Given the description of an element on the screen output the (x, y) to click on. 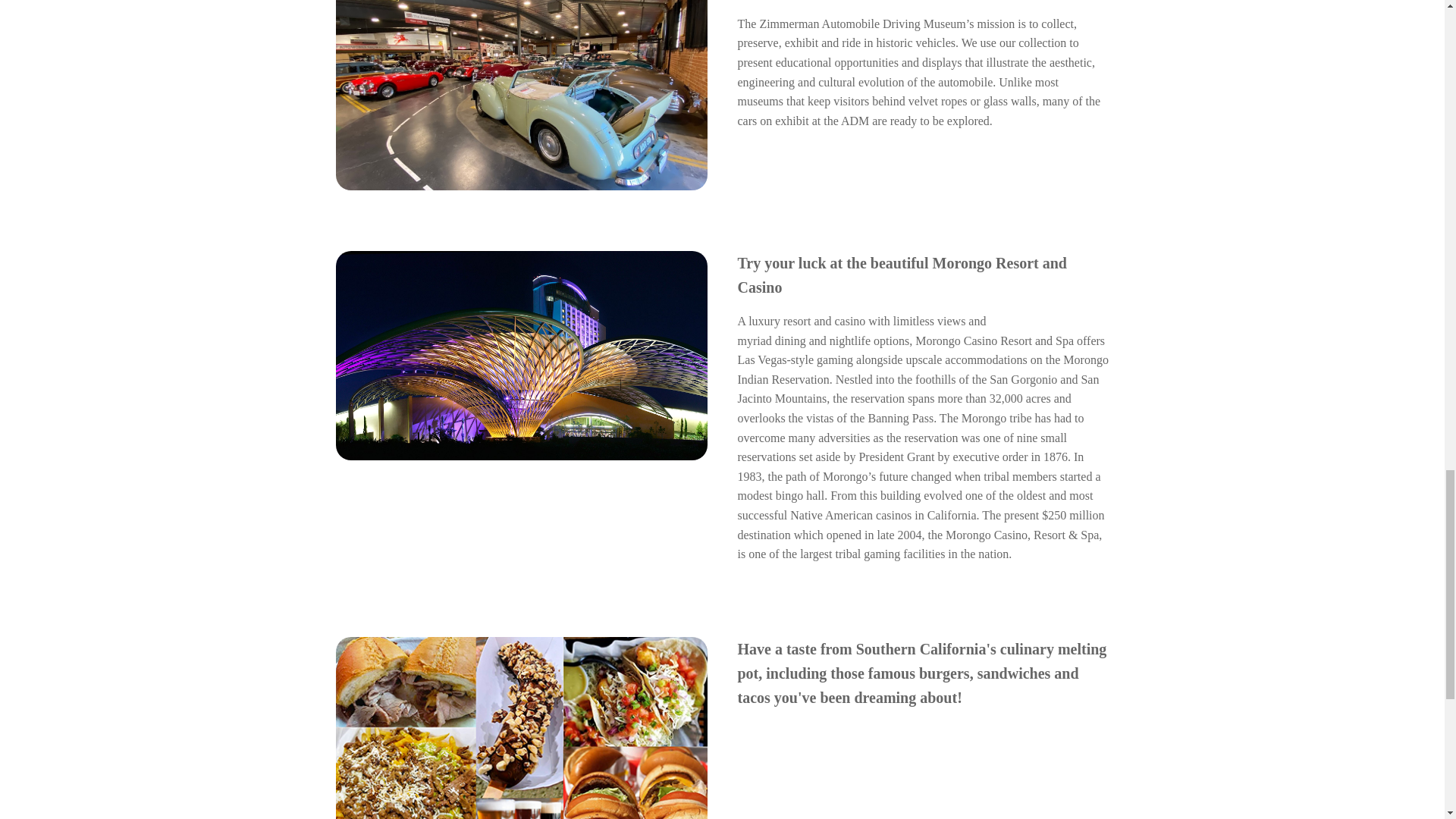
Zimmerman ADM (520, 95)
Morongo Casino (520, 355)
dining (790, 340)
nightlife (849, 340)
upscale accommodations (965, 359)
foods-southern-california-los-angeles-san-diego-known-for (520, 728)
